Given the description of an element on the screen output the (x, y) to click on. 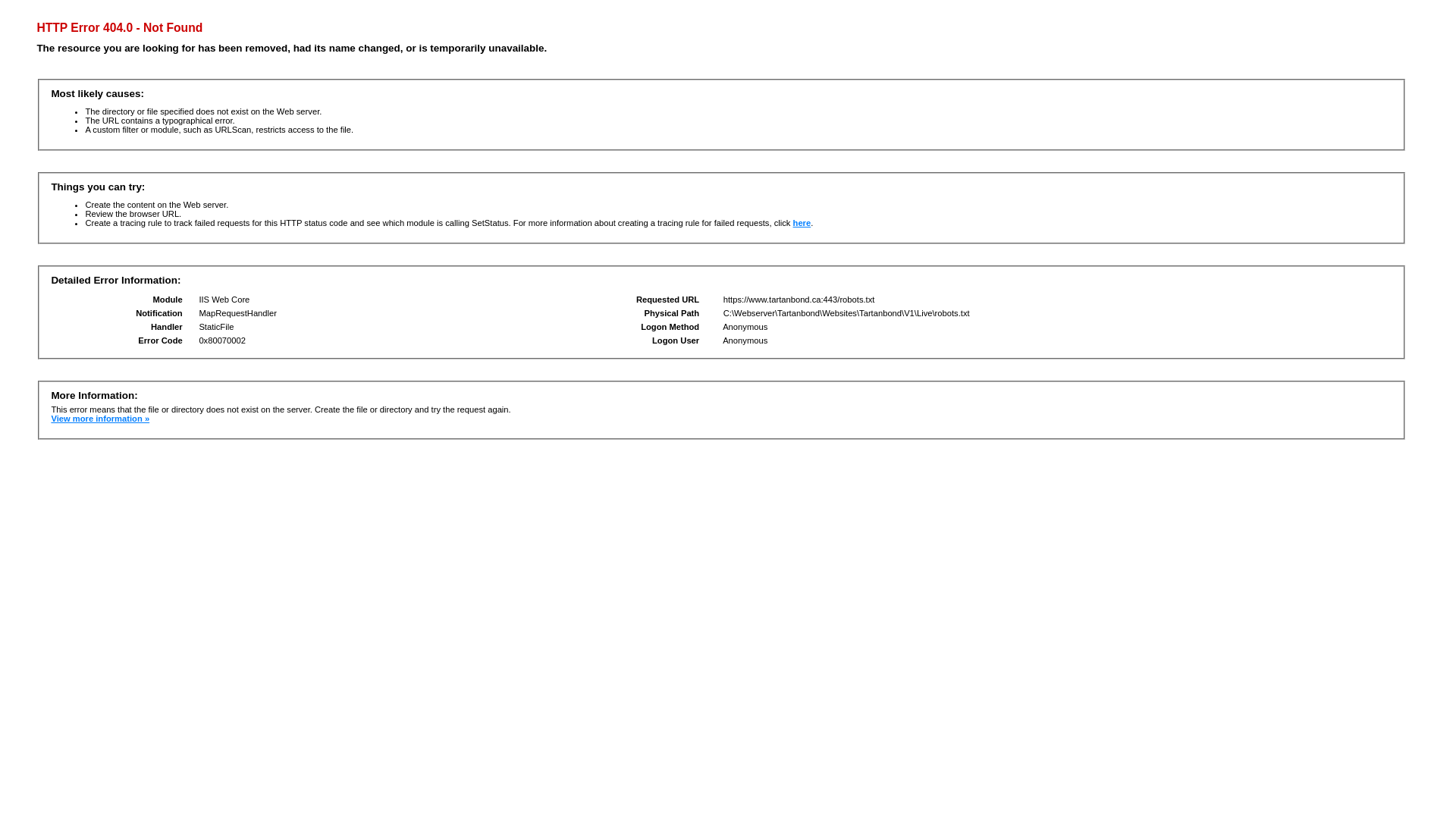
here Element type: text (802, 222)
